Given the description of an element on the screen output the (x, y) to click on. 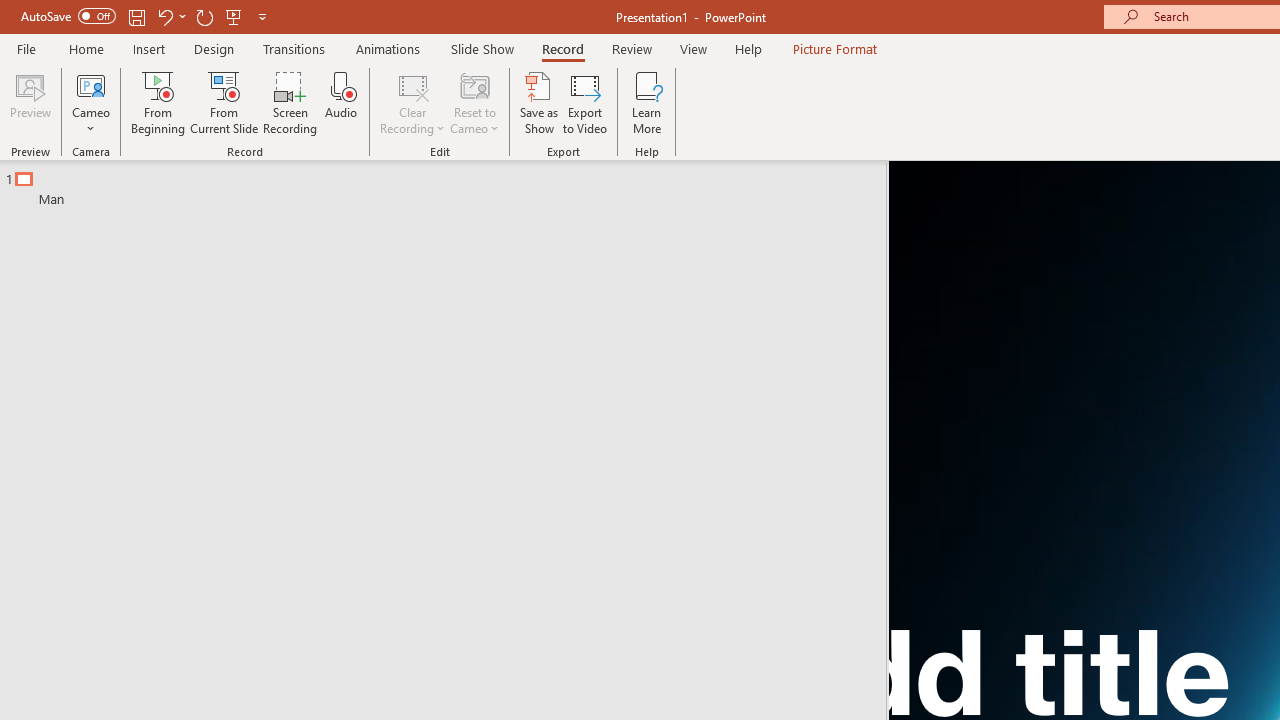
Export to Video (585, 102)
Home (86, 48)
View (693, 48)
Cameo (91, 102)
Reset to Cameo (474, 102)
Preview (30, 102)
